Given the description of an element on the screen output the (x, y) to click on. 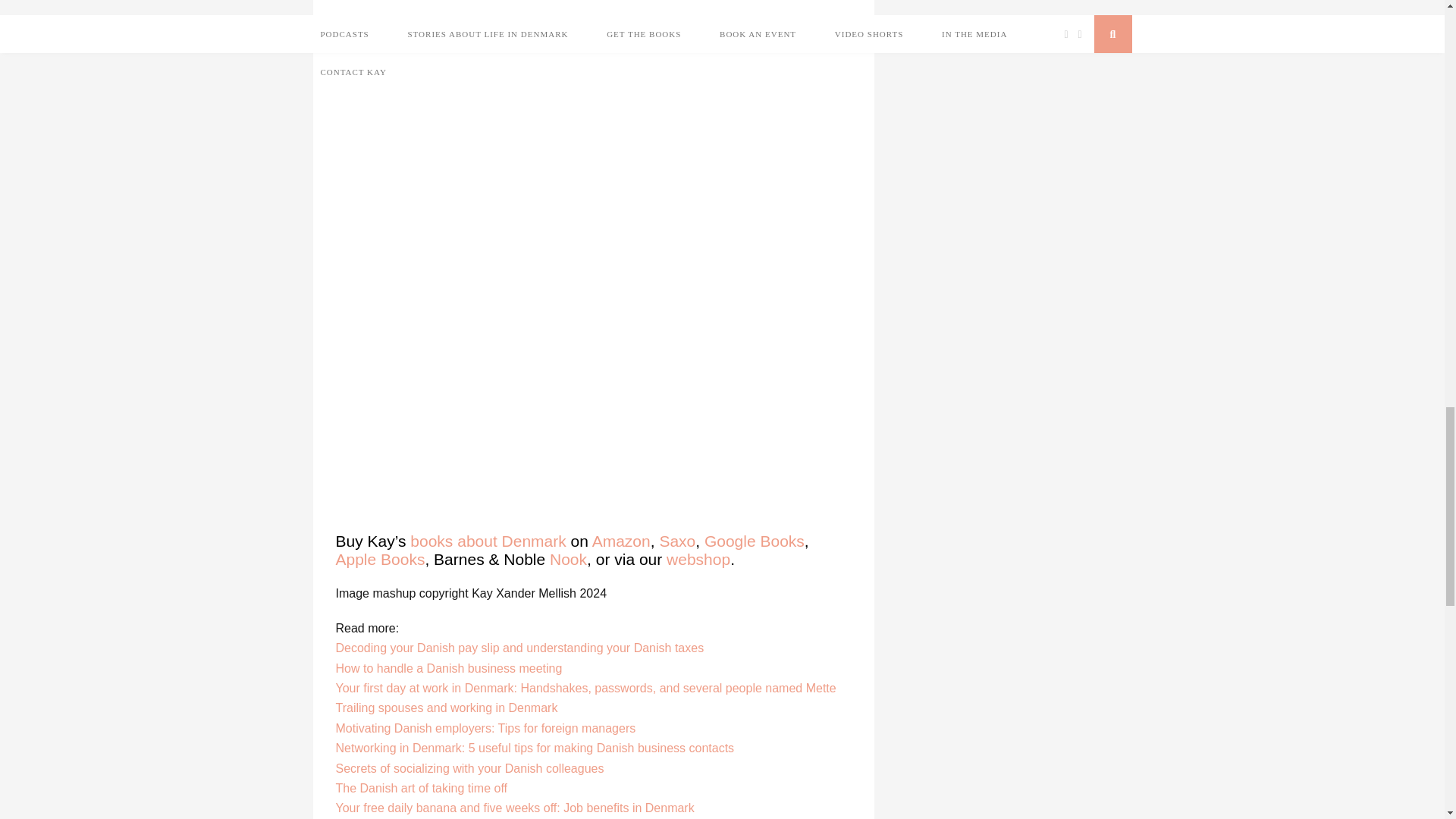
books about Denmark (488, 540)
Saxo (677, 540)
webshop (698, 559)
How to handle a Danish business meeting (448, 667)
Amazon (621, 540)
Google Books (754, 540)
Trailing spouses and working in Denmark (445, 707)
Nook (568, 559)
Apple Books (379, 559)
Motivating Danish employers: Tips for foreign managers (484, 727)
